Given the description of an element on the screen output the (x, y) to click on. 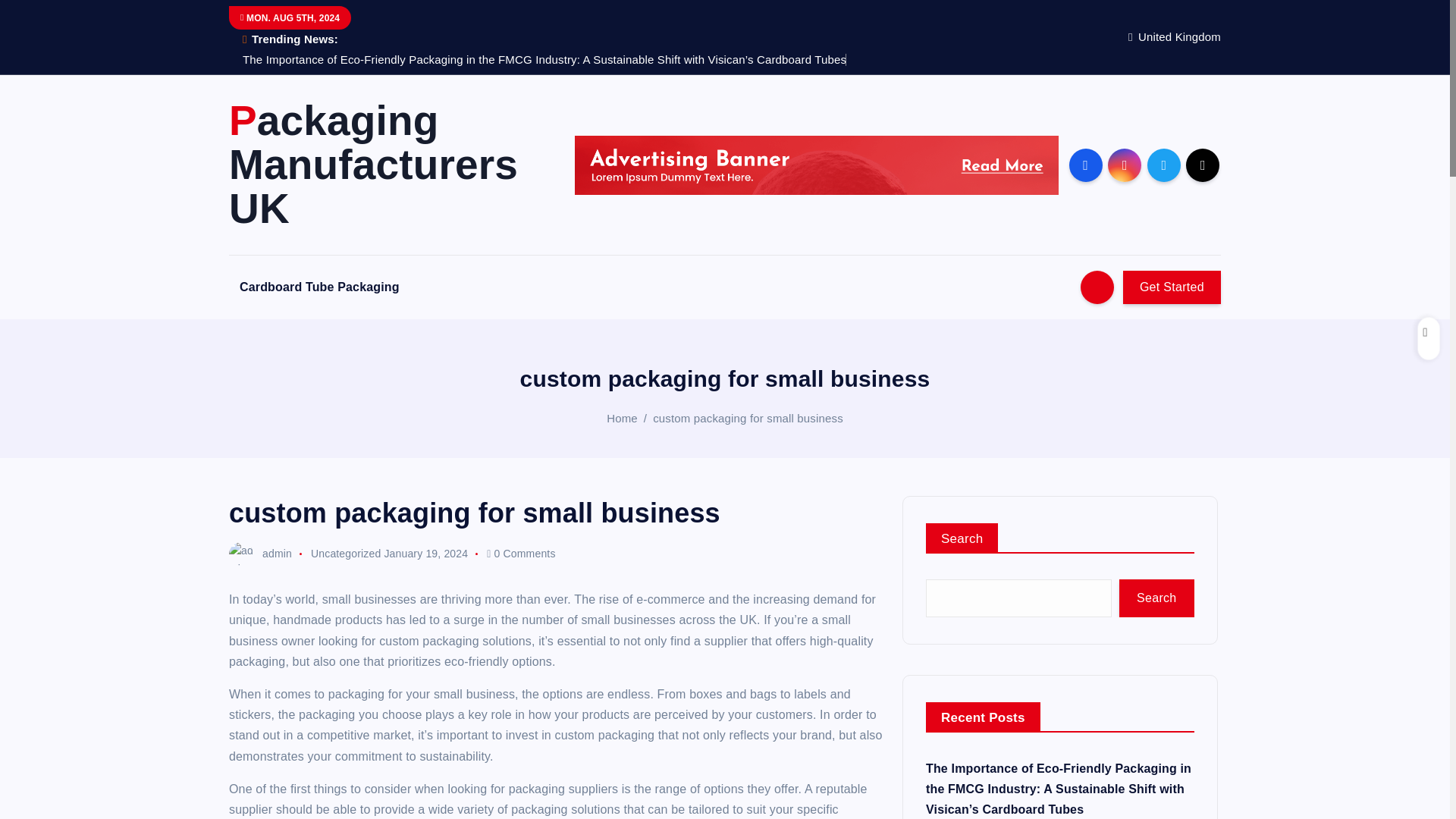
Get Started (1171, 287)
Uncategorized (345, 553)
Cardboard Tube Packaging (319, 287)
Packaging Manufacturers UK (387, 164)
admin (260, 553)
Search (1156, 598)
Cardboard Tube Packaging (319, 287)
custom packaging for small business (747, 418)
Home (622, 418)
